Given the description of an element on the screen output the (x, y) to click on. 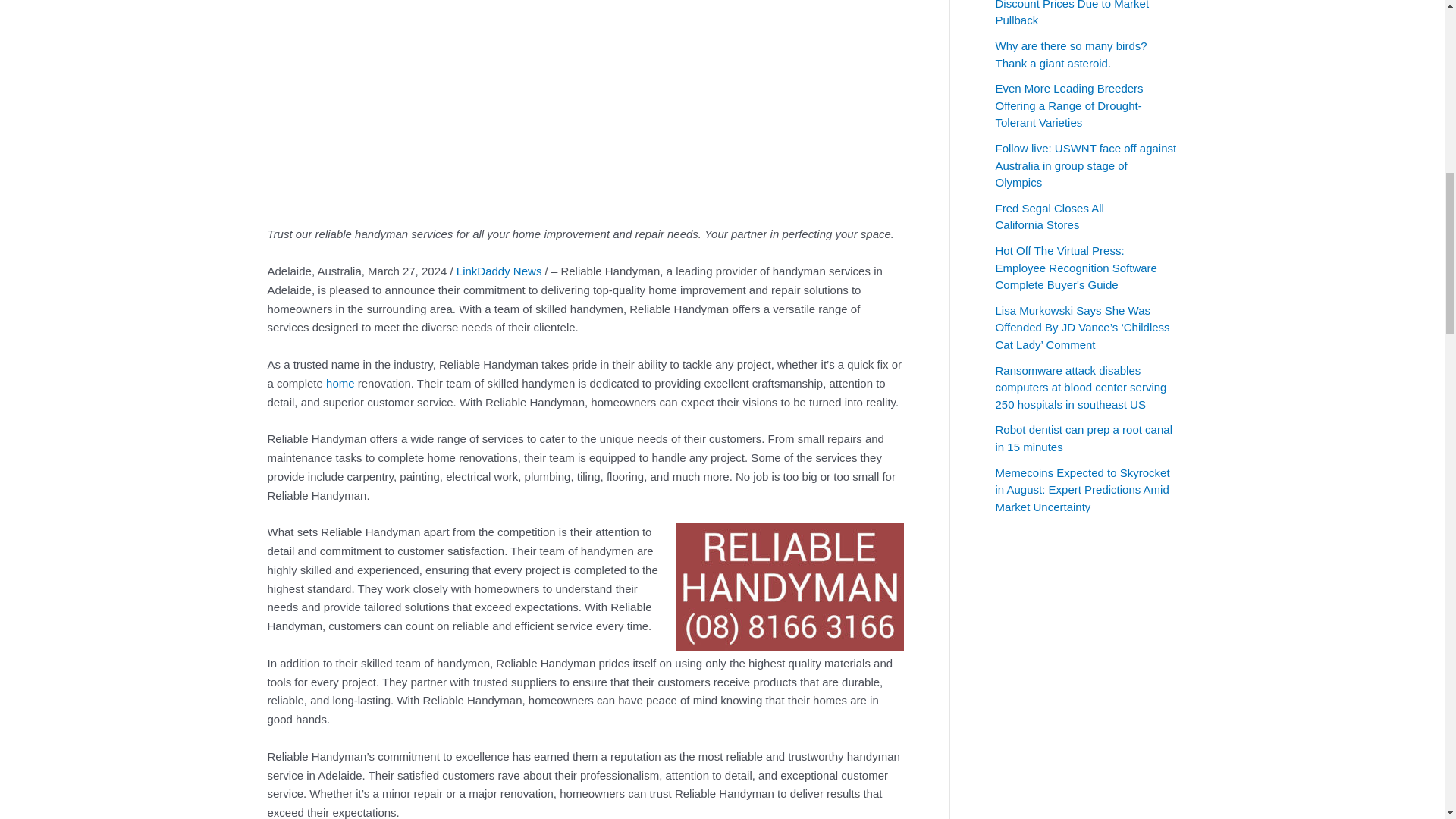
home (340, 382)
Advertisement (584, 100)
